Given the description of an element on the screen output the (x, y) to click on. 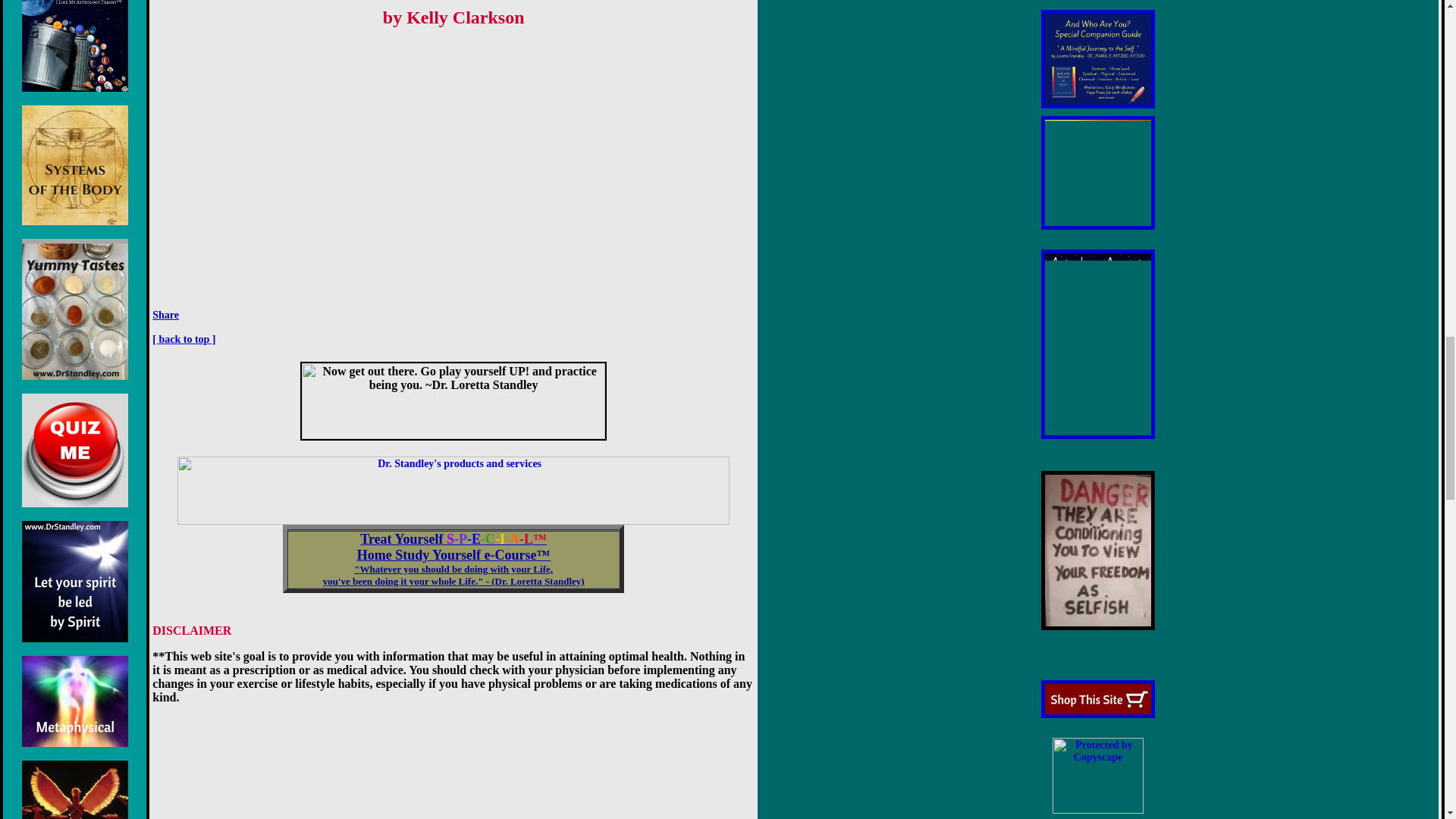
Garbage Astrology - because I like my Astrology trashy. (74, 45)
Astrology Quizzes, Health Quizzes, Games, Hangman and more (74, 449)
